Given the description of an element on the screen output the (x, y) to click on. 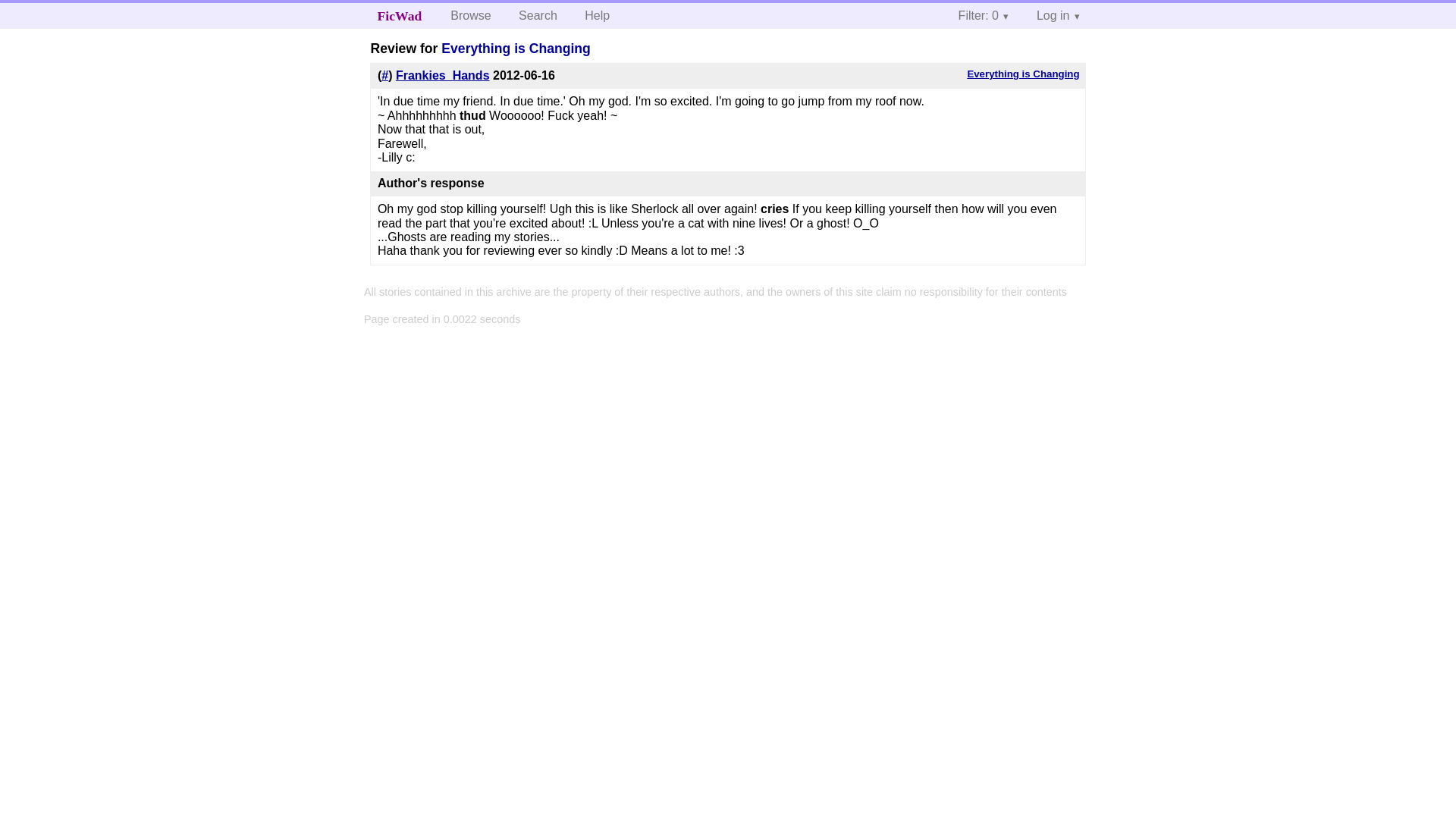
Help (596, 15)
FicWad (399, 15)
Browse (470, 15)
Everything is Changing (516, 48)
Search (537, 15)
Log in (1058, 15)
Everything is Changing (1022, 73)
fresh-picked original and fan fiction (399, 15)
2012-06-16 08:38:07 AM (523, 74)
Filter: 0 (984, 15)
